Given the description of an element on the screen output the (x, y) to click on. 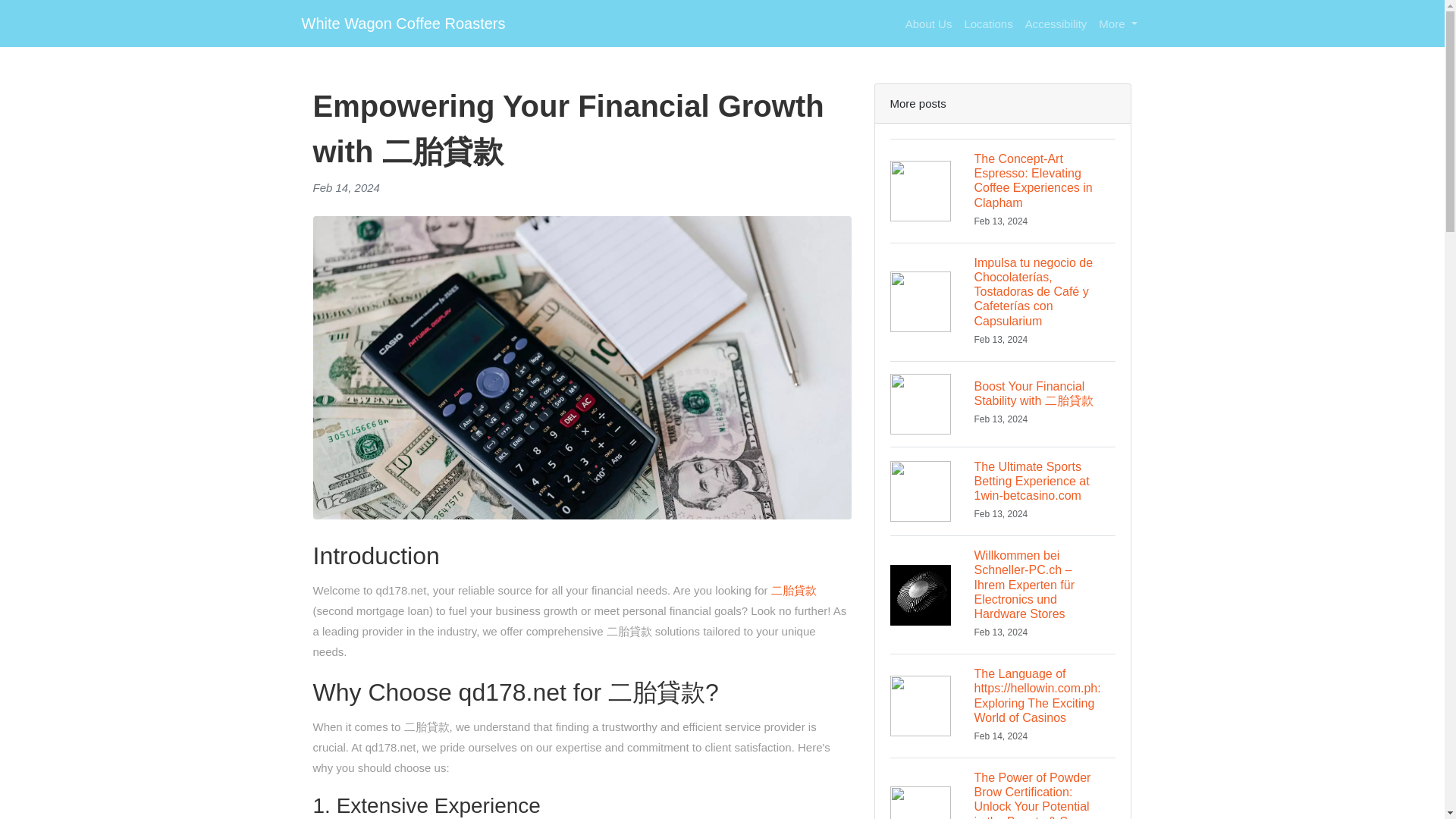
Locations (987, 23)
Accessibility (1056, 23)
About Us (928, 23)
White Wagon Coffee Roasters (403, 22)
More (1117, 23)
